Given the description of an element on the screen output the (x, y) to click on. 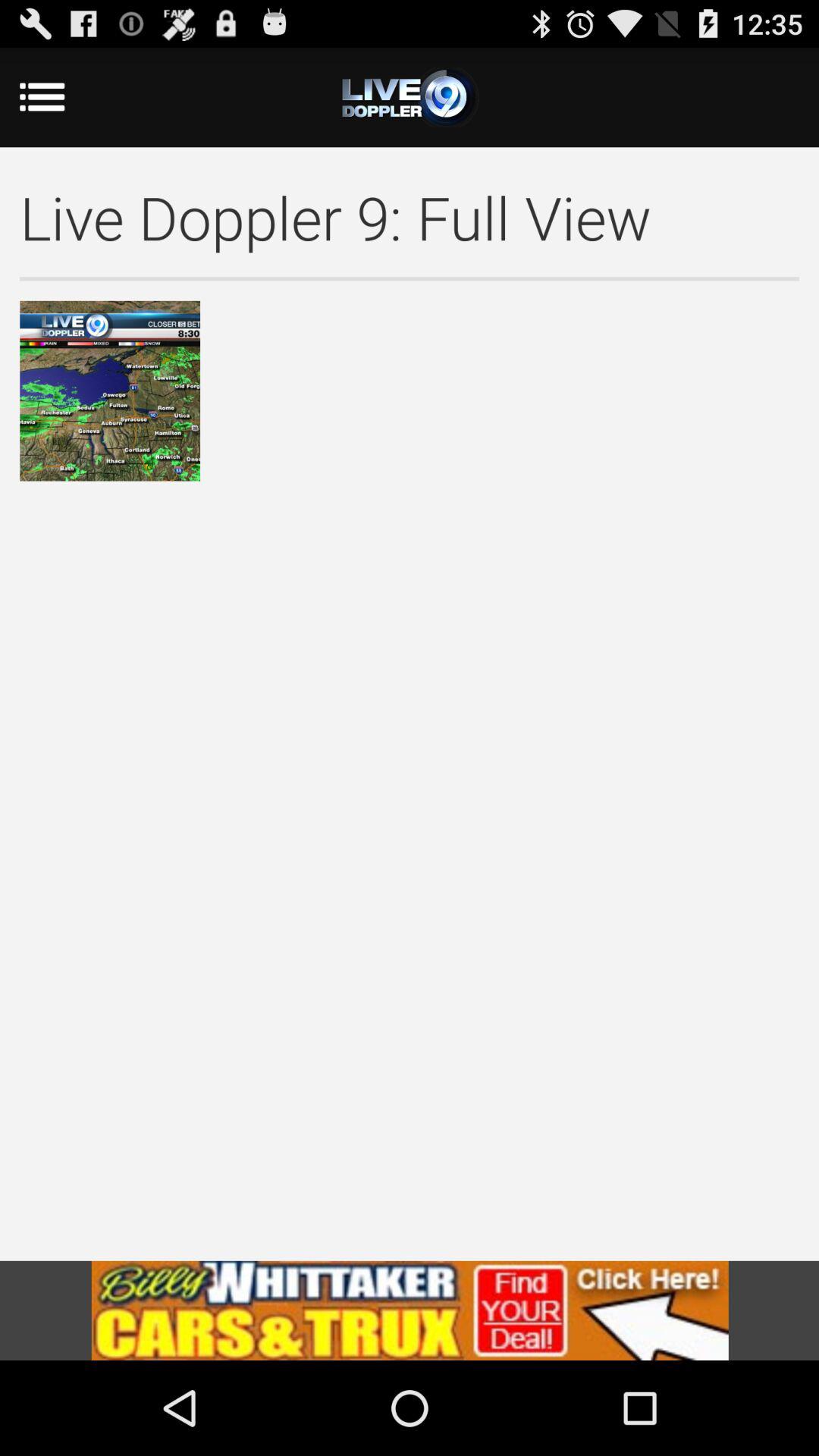
advertisement image (409, 1310)
